Given the description of an element on the screen output the (x, y) to click on. 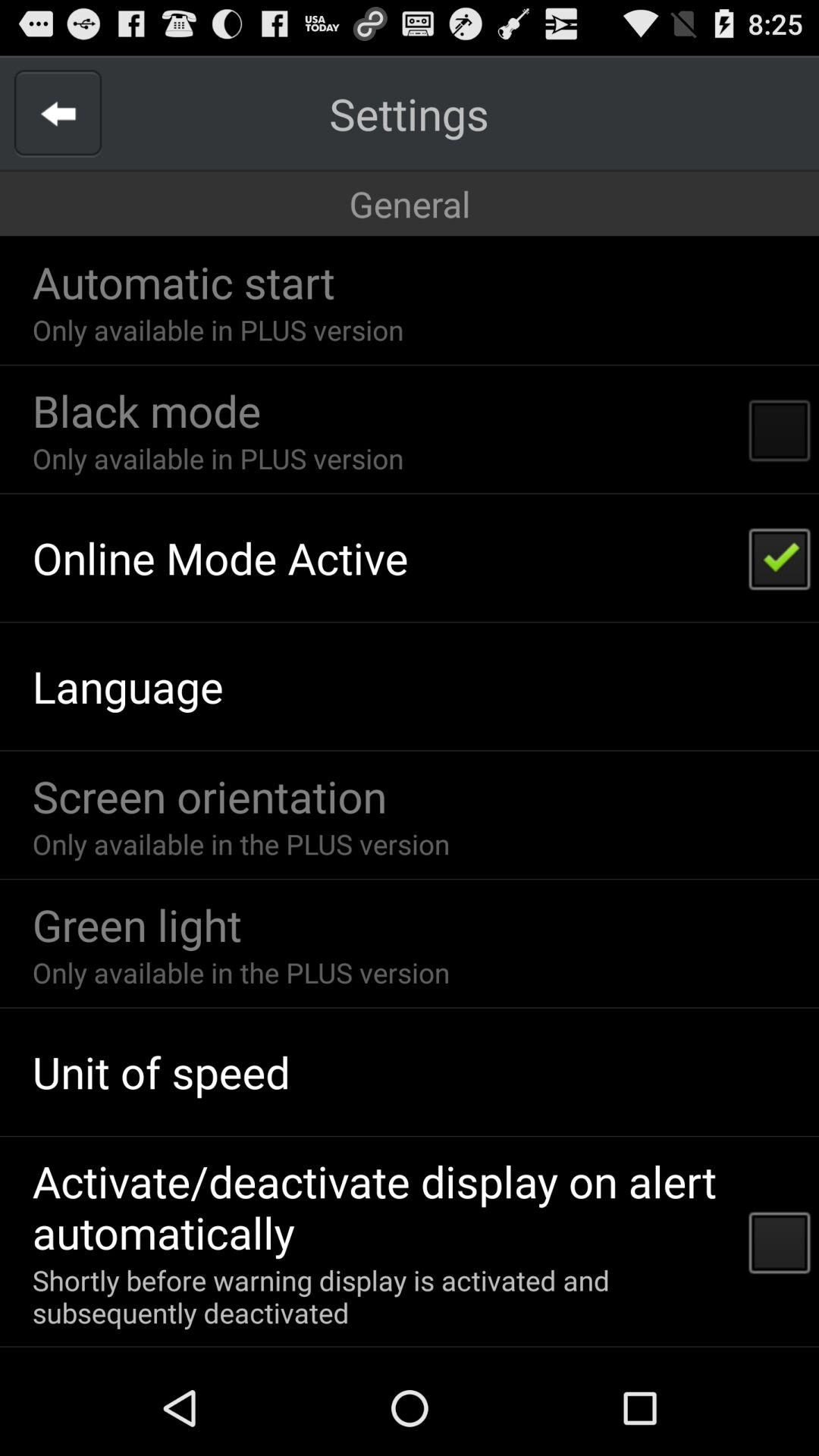
choose online mode active item (220, 557)
